Given the description of an element on the screen output the (x, y) to click on. 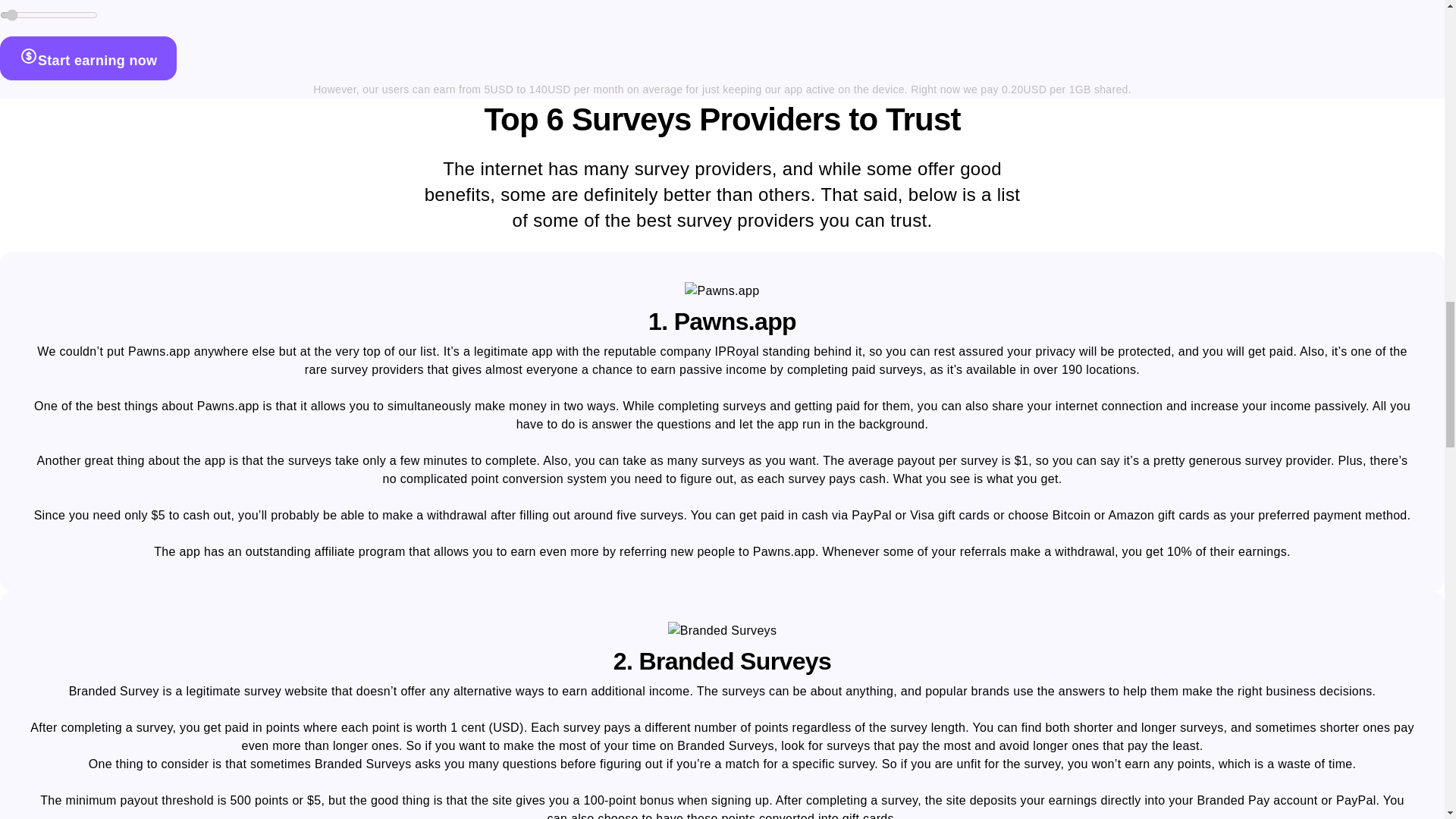
Start earning now (88, 58)
7 (48, 15)
